Given the description of an element on the screen output the (x, y) to click on. 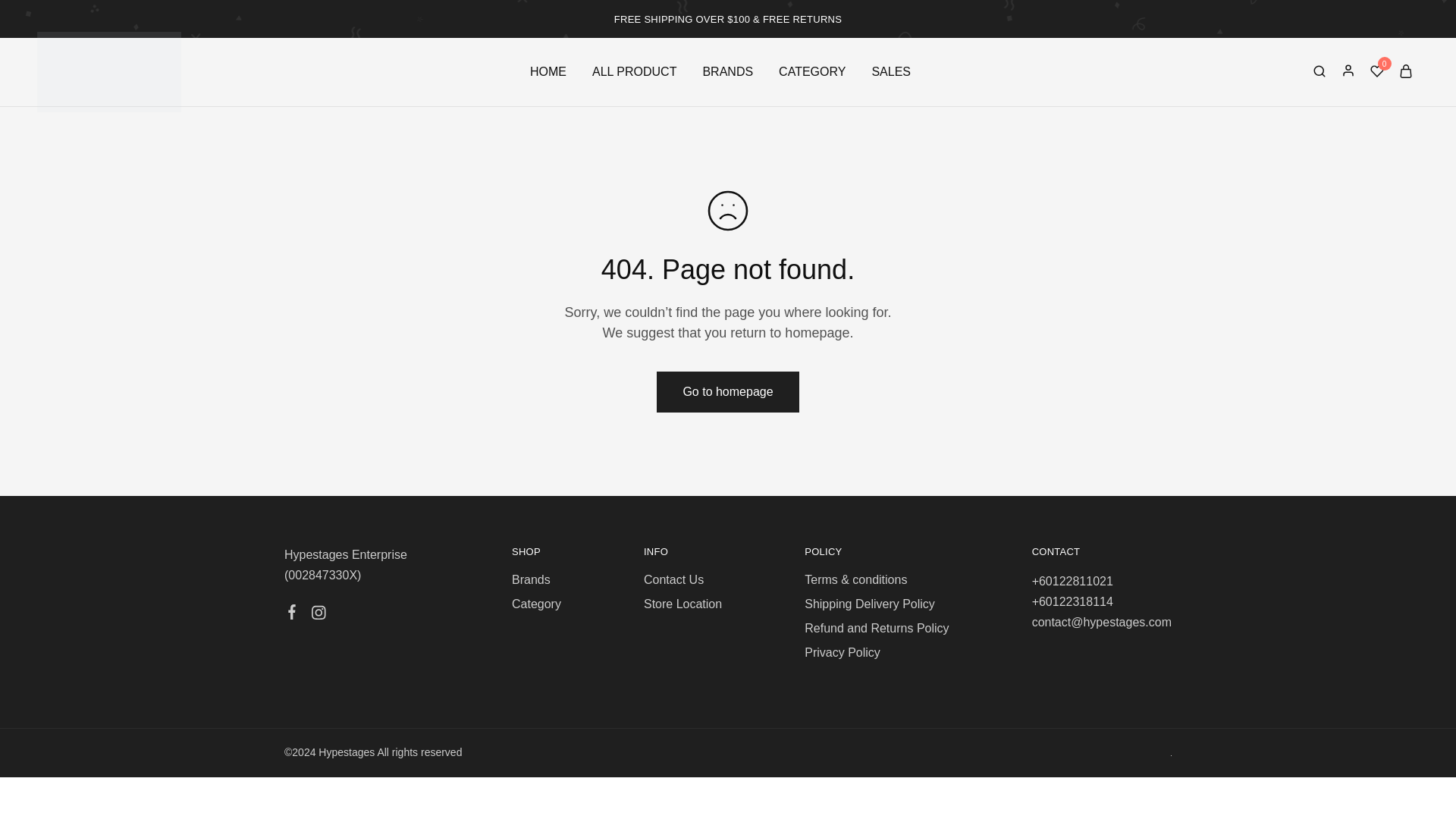
SALES (890, 71)
Category (536, 603)
Shipping Delivery Policy (869, 603)
Go to homepage (726, 391)
Instagram (317, 614)
HOME (548, 71)
Facebook (292, 613)
Refund and Returns Policy (877, 627)
BRANDS (727, 71)
Privacy Policy (842, 652)
Store Location (682, 603)
CATEGORY (811, 71)
Contact Us (673, 579)
Brands (531, 579)
ALL PRODUCT (633, 71)
